Given the description of an element on the screen output the (x, y) to click on. 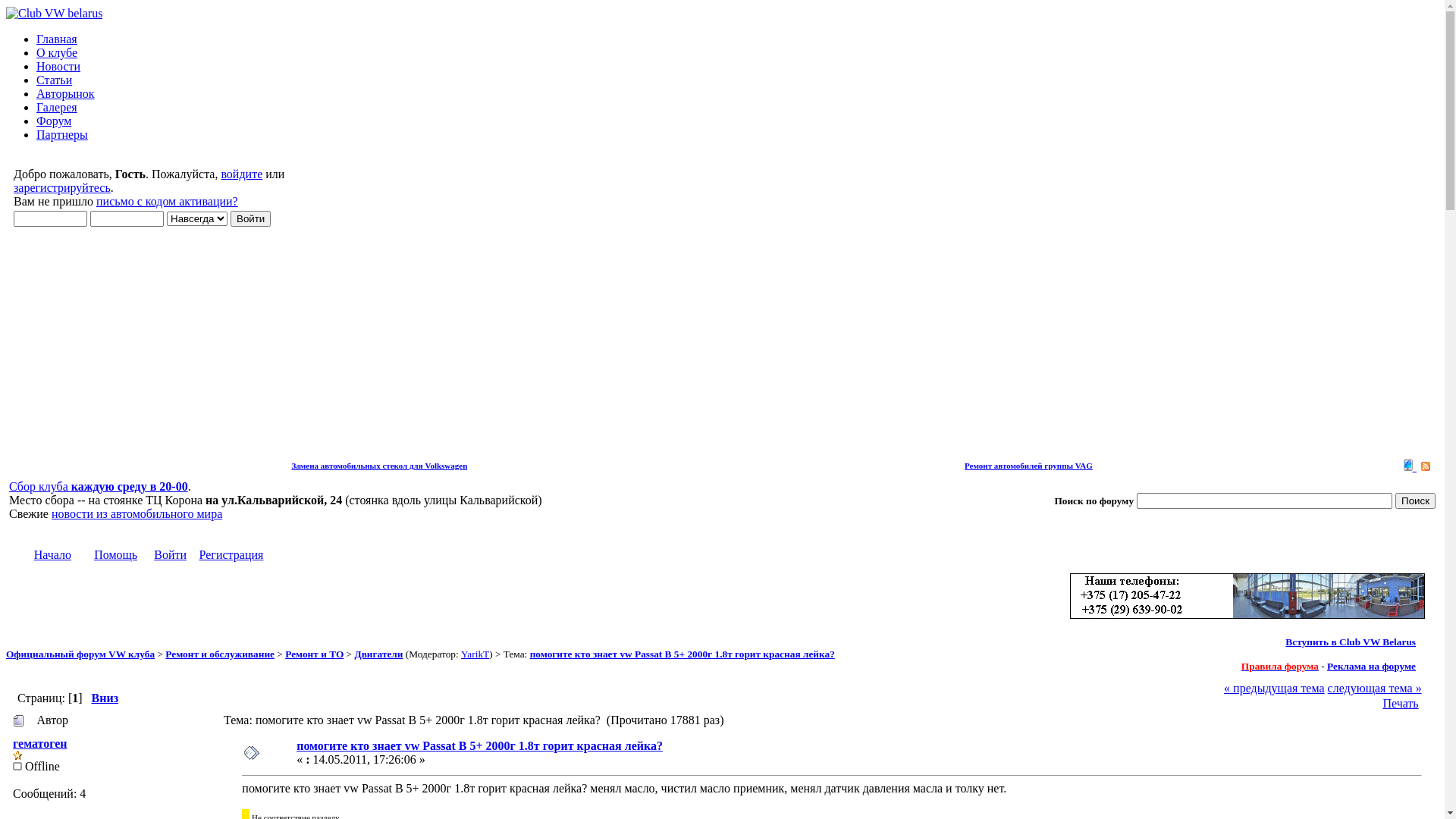
Advertisement Element type: hover (721, 350)
Club VW belarus Element type: hover (54, 12)
YarikT Element type: text (475, 653)
   Element type: text (1409, 467)
